Given the description of an element on the screen output the (x, y) to click on. 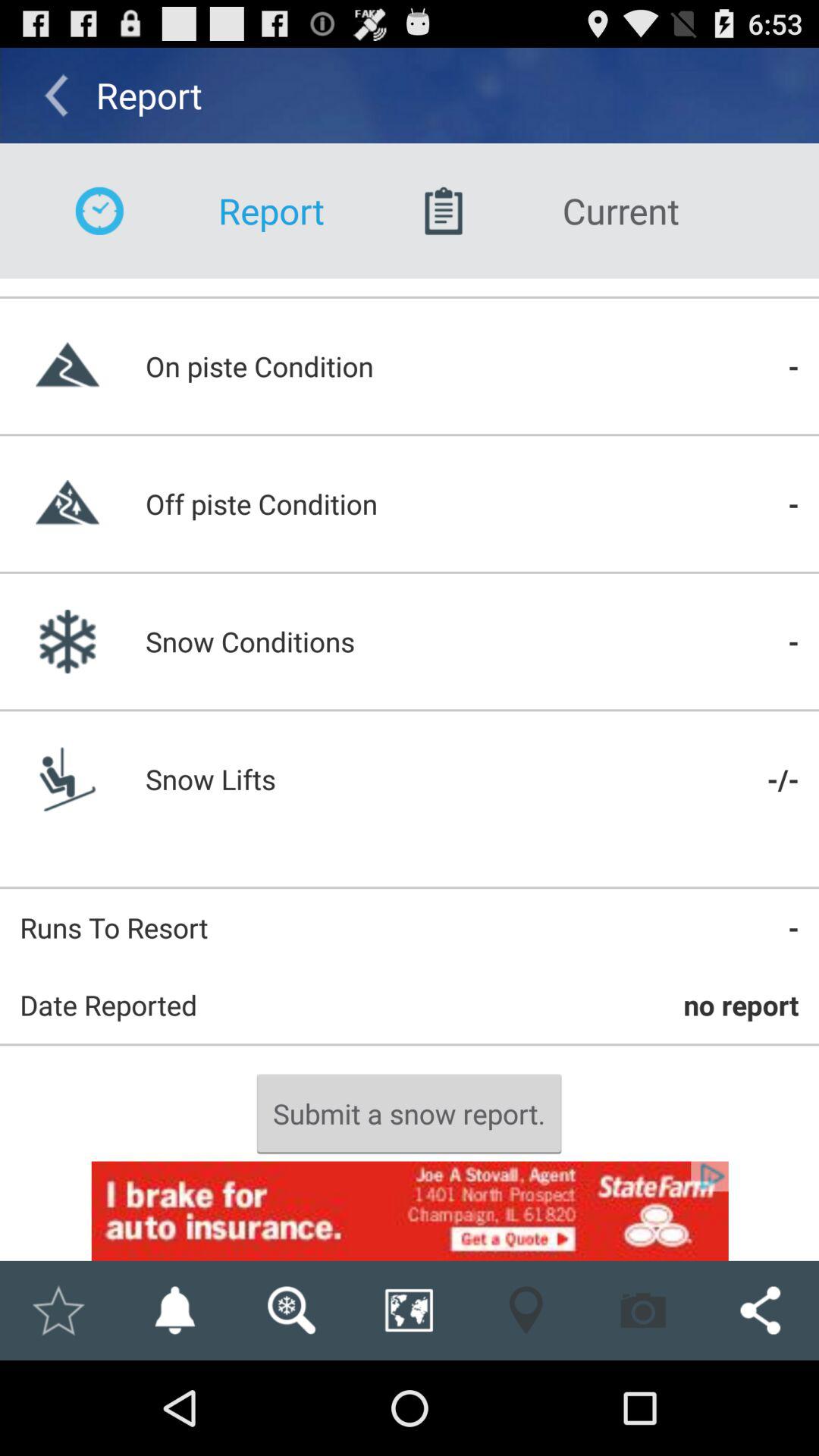
take a photo (642, 1310)
